Given the description of an element on the screen output the (x, y) to click on. 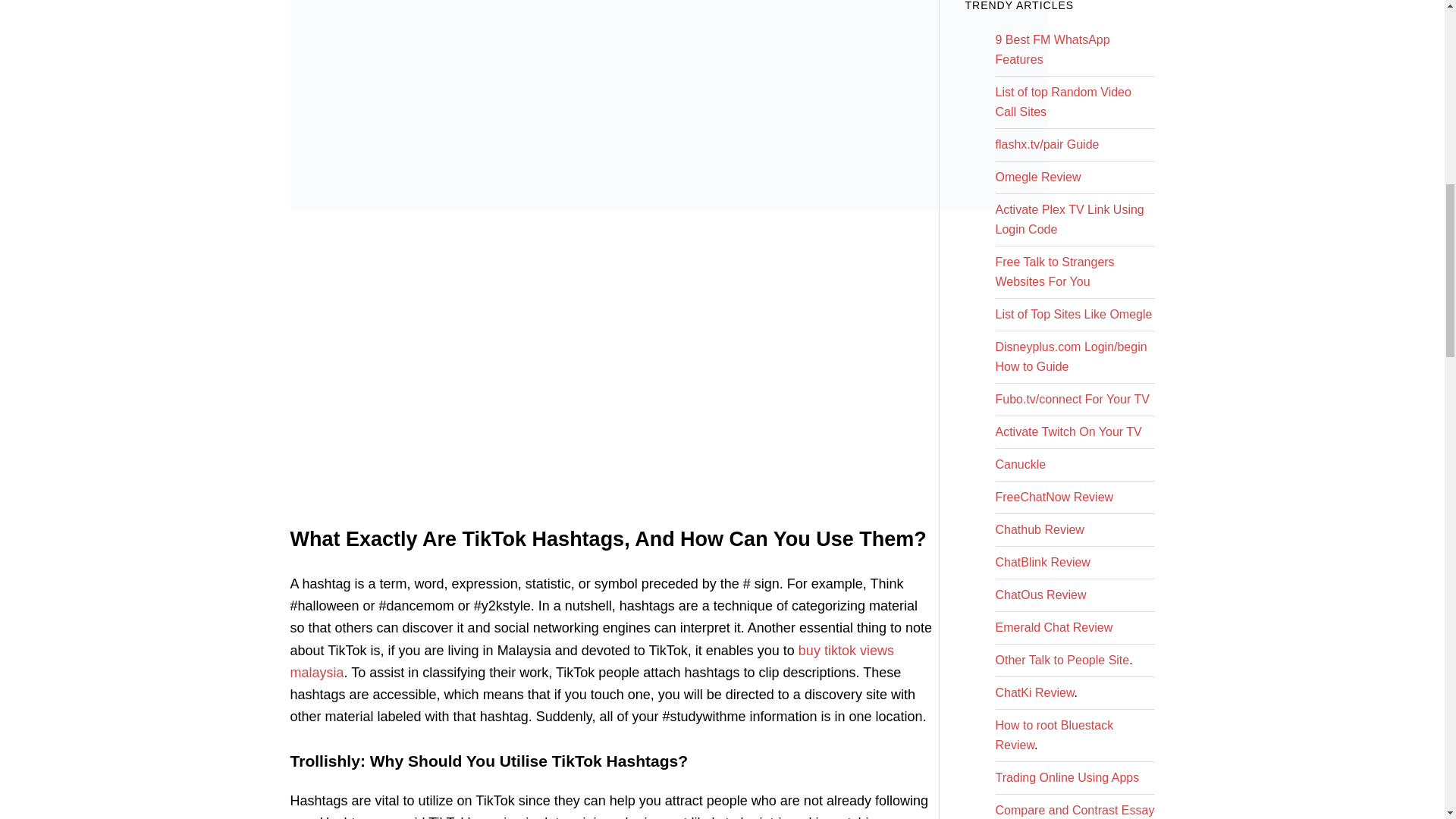
Activate Plex TV Link Using Login Code (1068, 219)
List of top Random Video Call Sites (1062, 101)
Omegle Review (1037, 176)
buy tiktok views malaysia (591, 661)
9 Best FM WhatsApp Features (1051, 49)
